Given the description of an element on the screen output the (x, y) to click on. 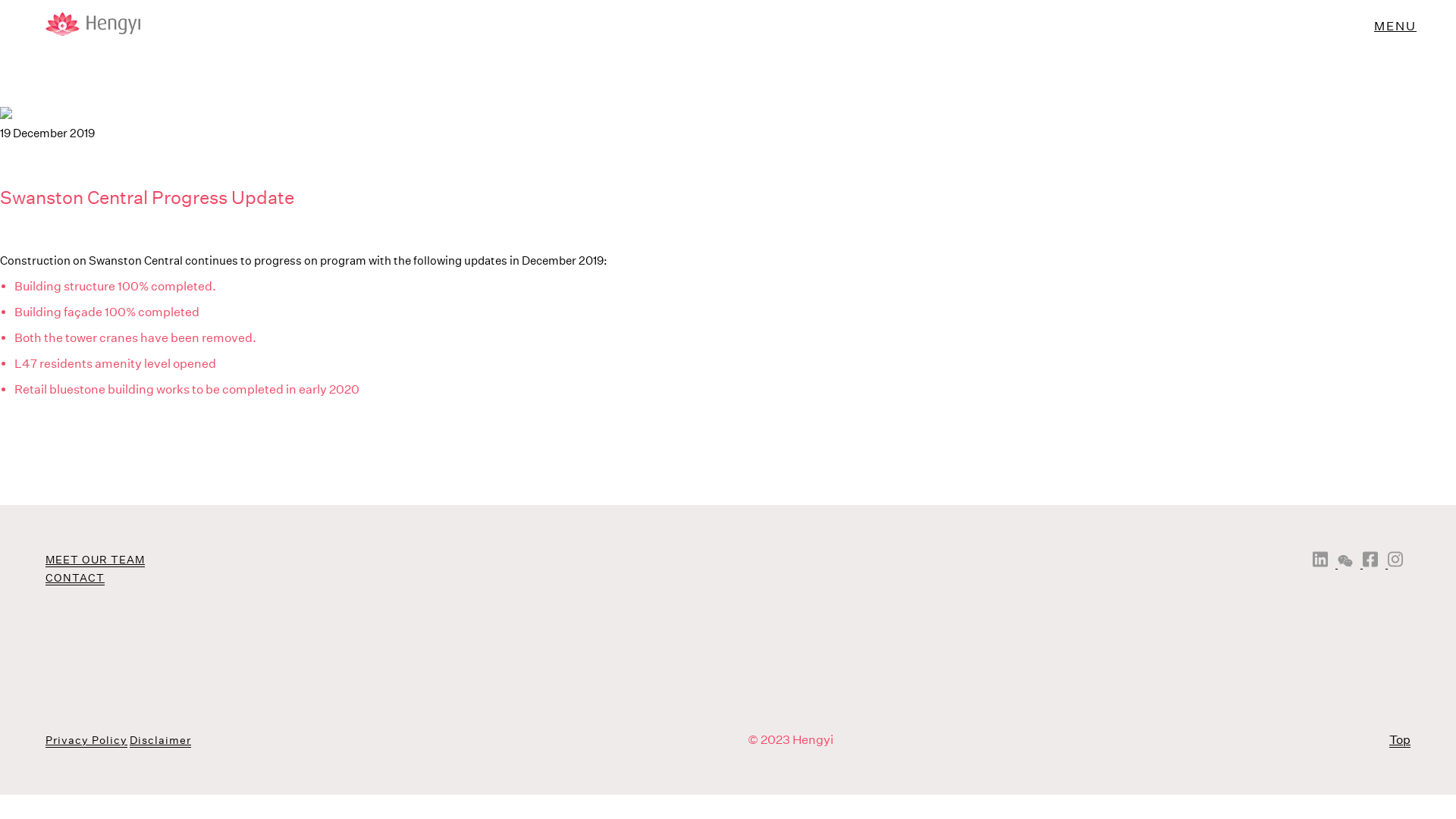
MEET OUR TEAM Element type: text (94, 559)
logo Element type: text (70, 26)
Disclaimer Element type: text (160, 740)
MENU Element type: text (1395, 25)
CONTACT Element type: text (74, 578)
Top Element type: text (1399, 739)
Privacy Policy Element type: text (86, 740)
